Given the description of an element on the screen output the (x, y) to click on. 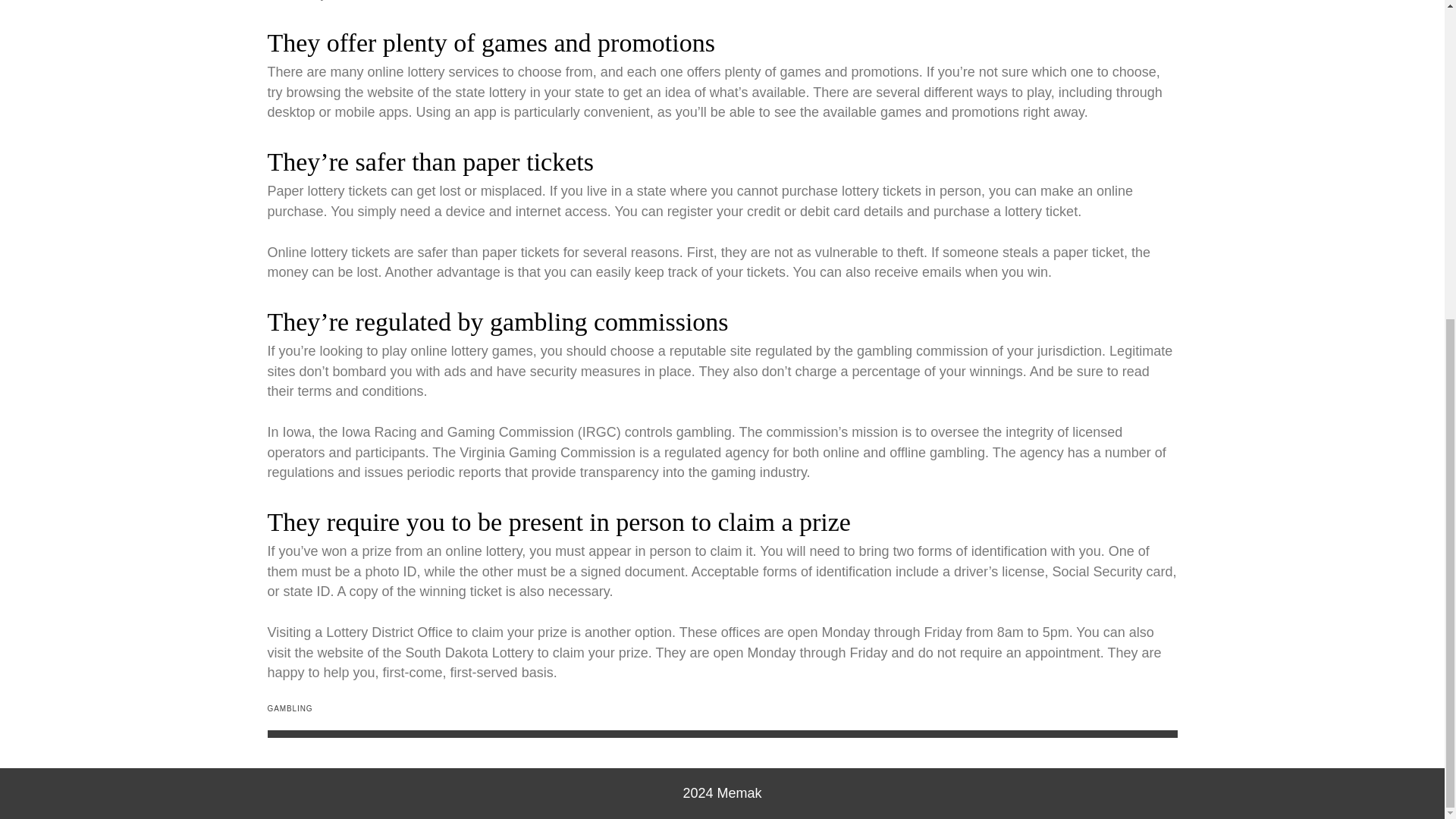
GAMBLING (289, 708)
